Given the description of an element on the screen output the (x, y) to click on. 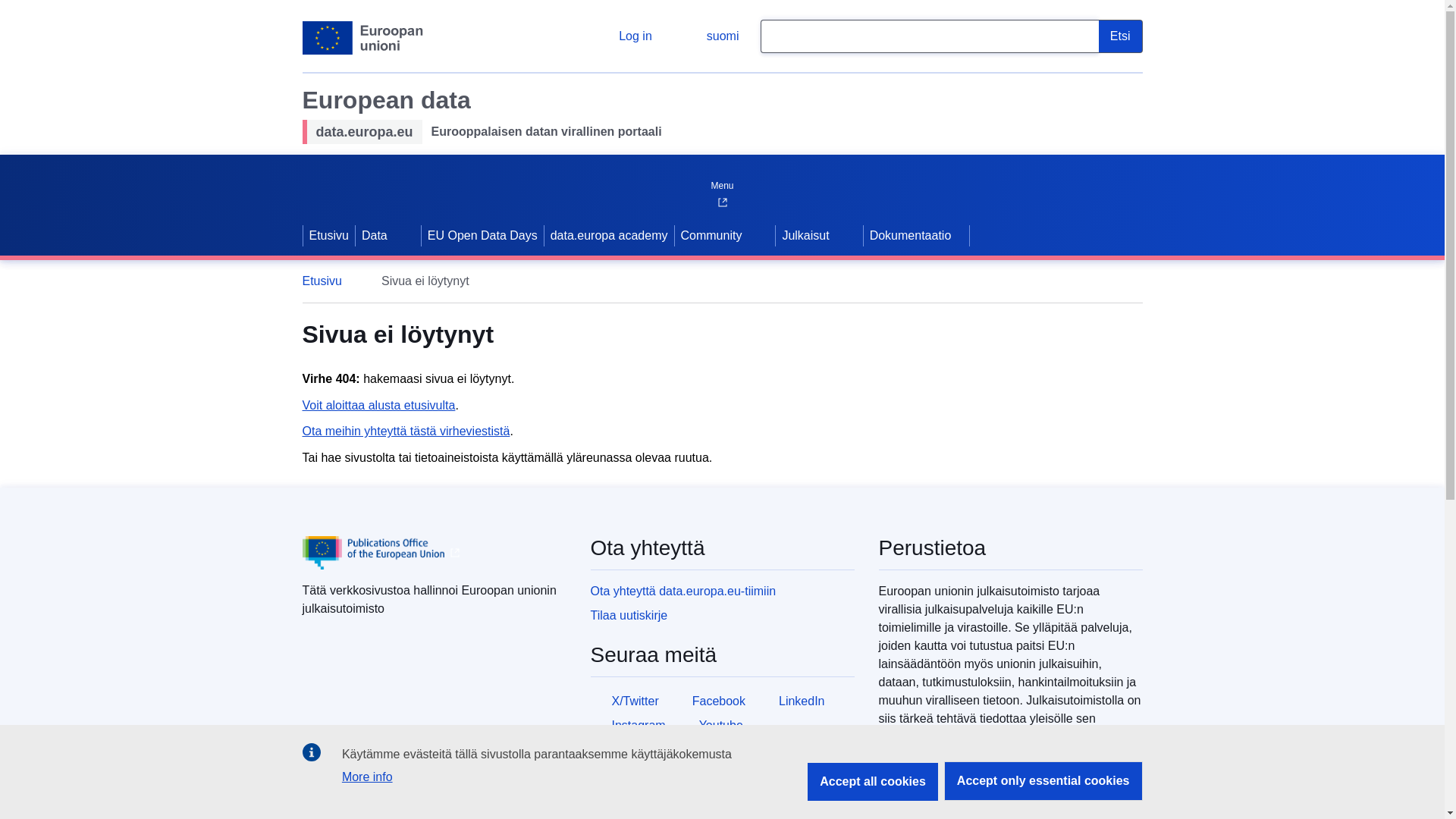
EU Open Data Days (482, 235)
Voit aloittaa alusta etusivulta (377, 404)
European Union (362, 37)
Julkaisut (803, 235)
Etsi (1120, 36)
Publicationf Office of European Union (372, 552)
suomi (710, 36)
Dokumentaatio (916, 235)
Etusivu (328, 235)
Log in (622, 36)
